Given the description of an element on the screen output the (x, y) to click on. 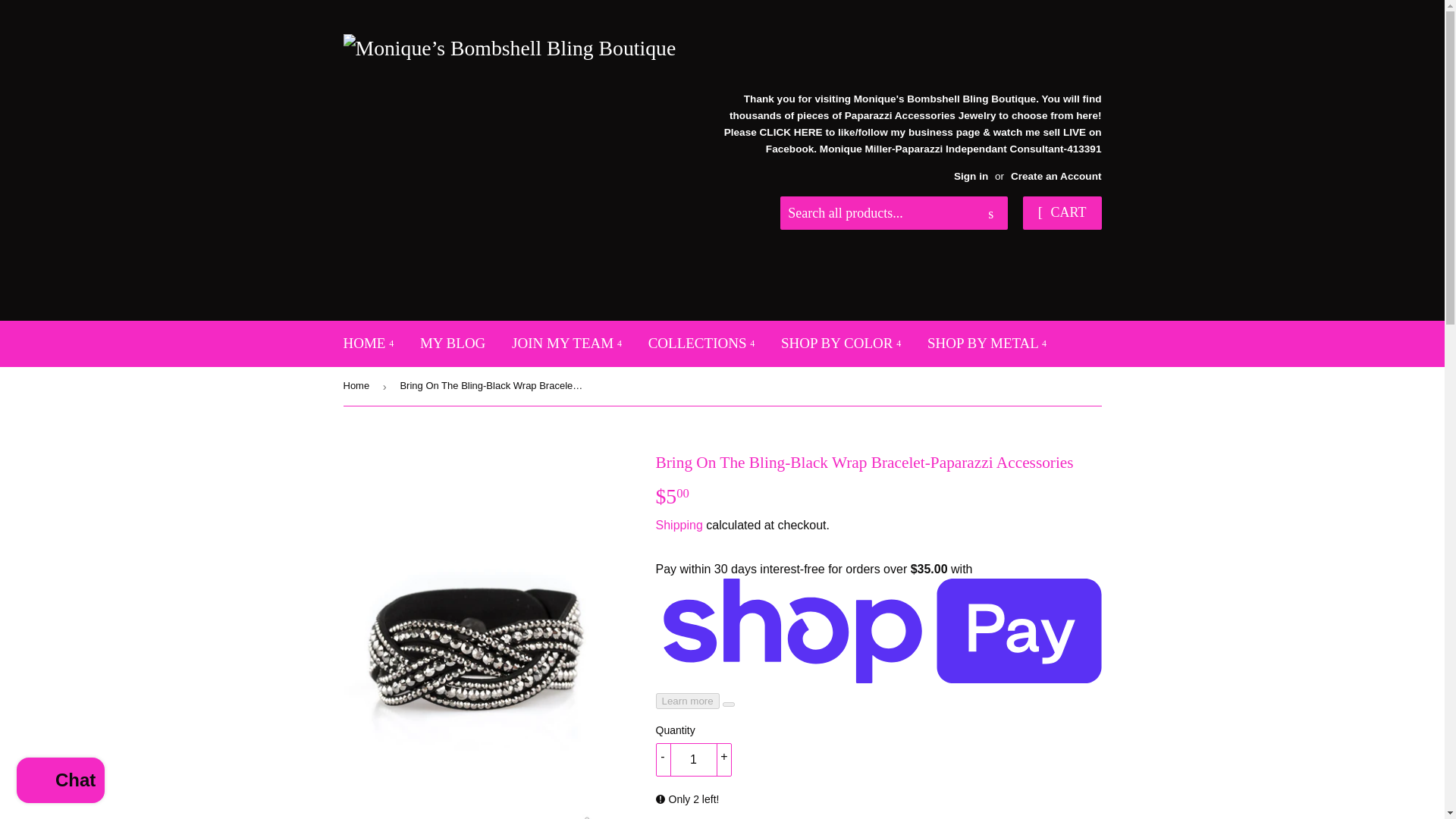
Shopify online store chat (60, 781)
CART (1062, 213)
Create an Account (1056, 175)
Search (990, 214)
Sign in (970, 175)
1 (692, 759)
